Given the description of an element on the screen output the (x, y) to click on. 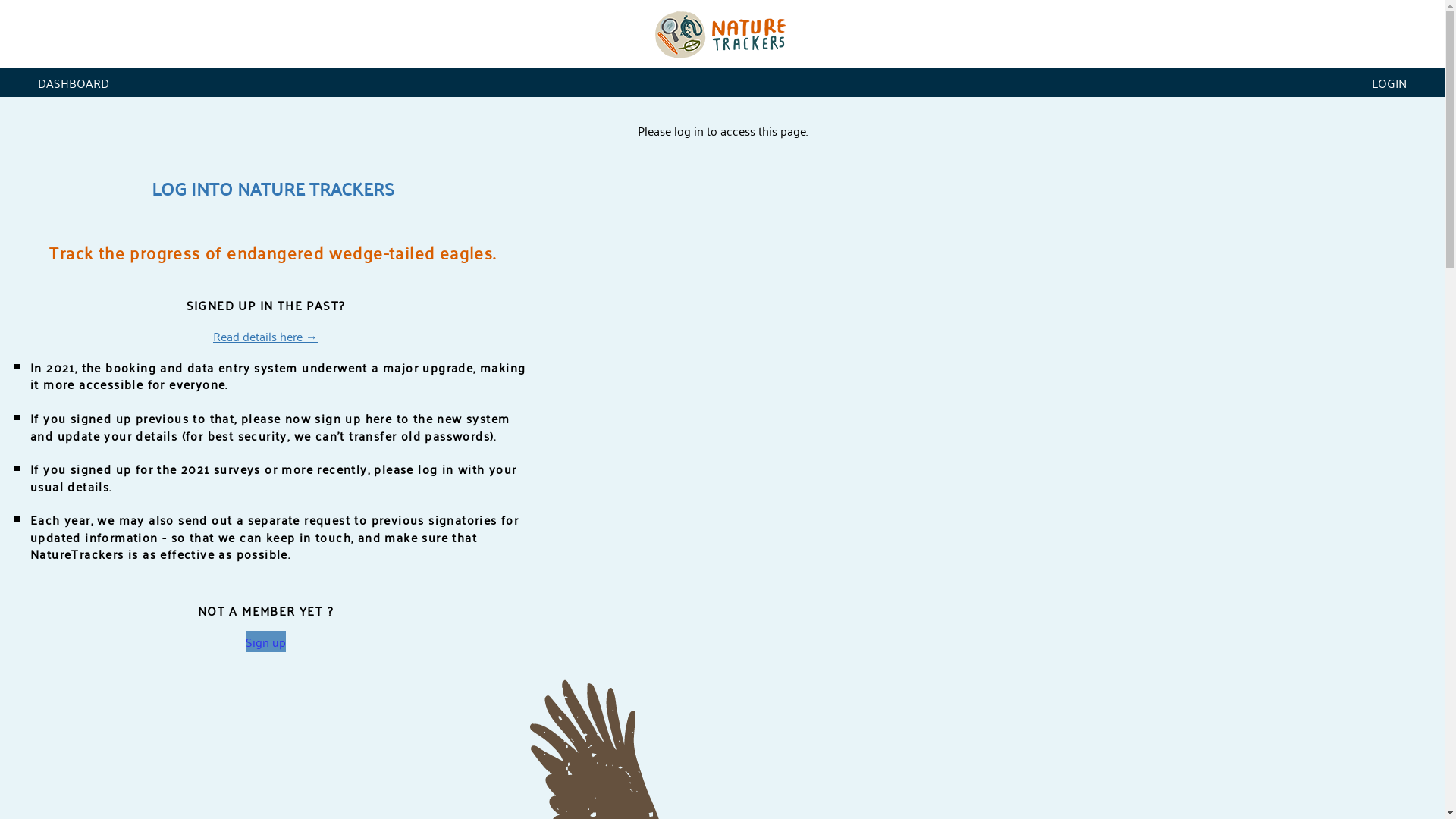
LOGIN Element type: text (1389, 82)
Sign up Element type: text (265, 641)
DASHBOARD Element type: text (73, 82)
